Given the description of an element on the screen output the (x, y) to click on. 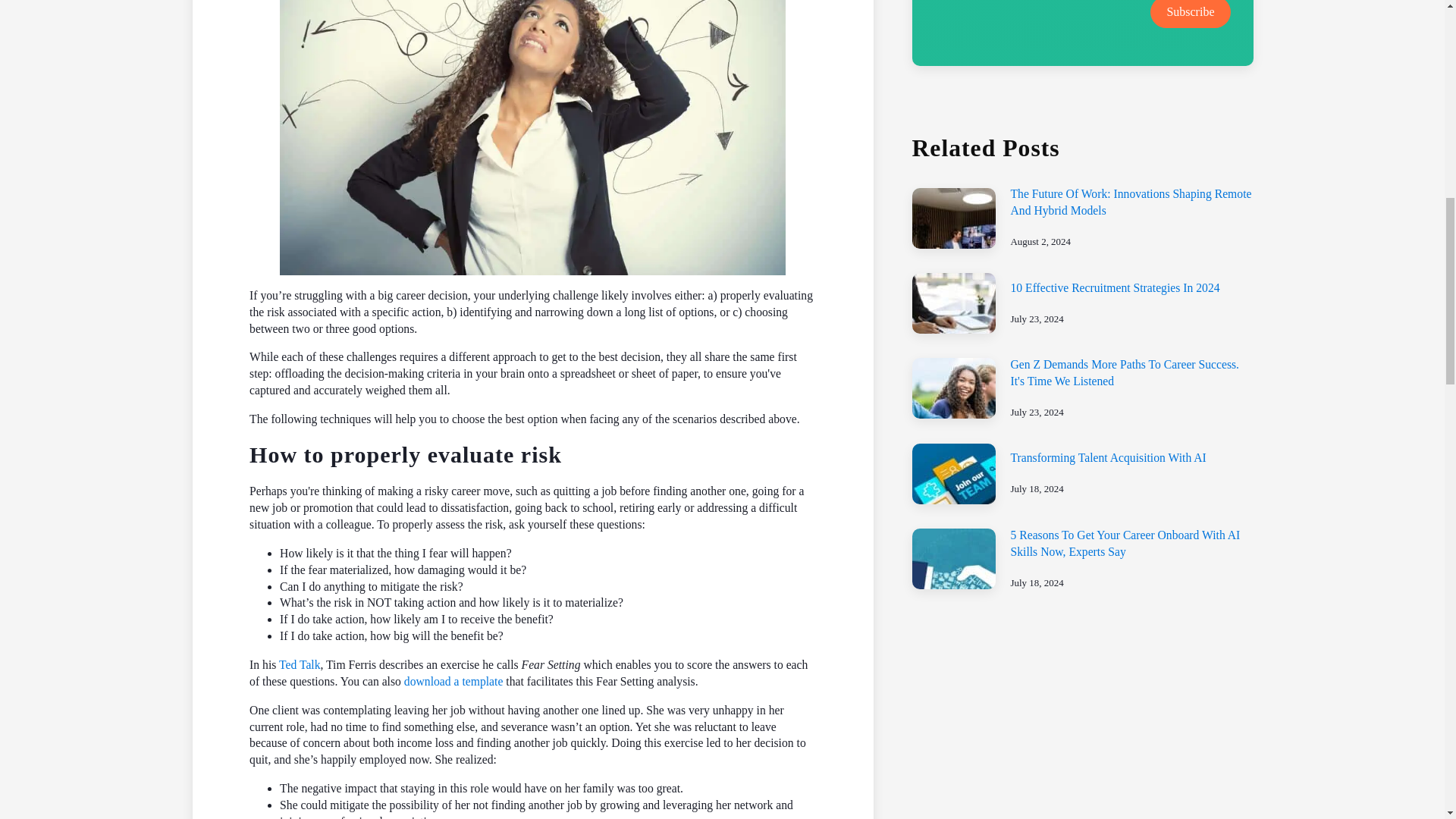
download a template (453, 680)
Transforming Talent Acquisition With AI (1107, 457)
Subscribe (1190, 13)
10 Effective Recruitment Strategies In 2024 (1115, 287)
Ted Talk (299, 664)
